Given the description of an element on the screen output the (x, y) to click on. 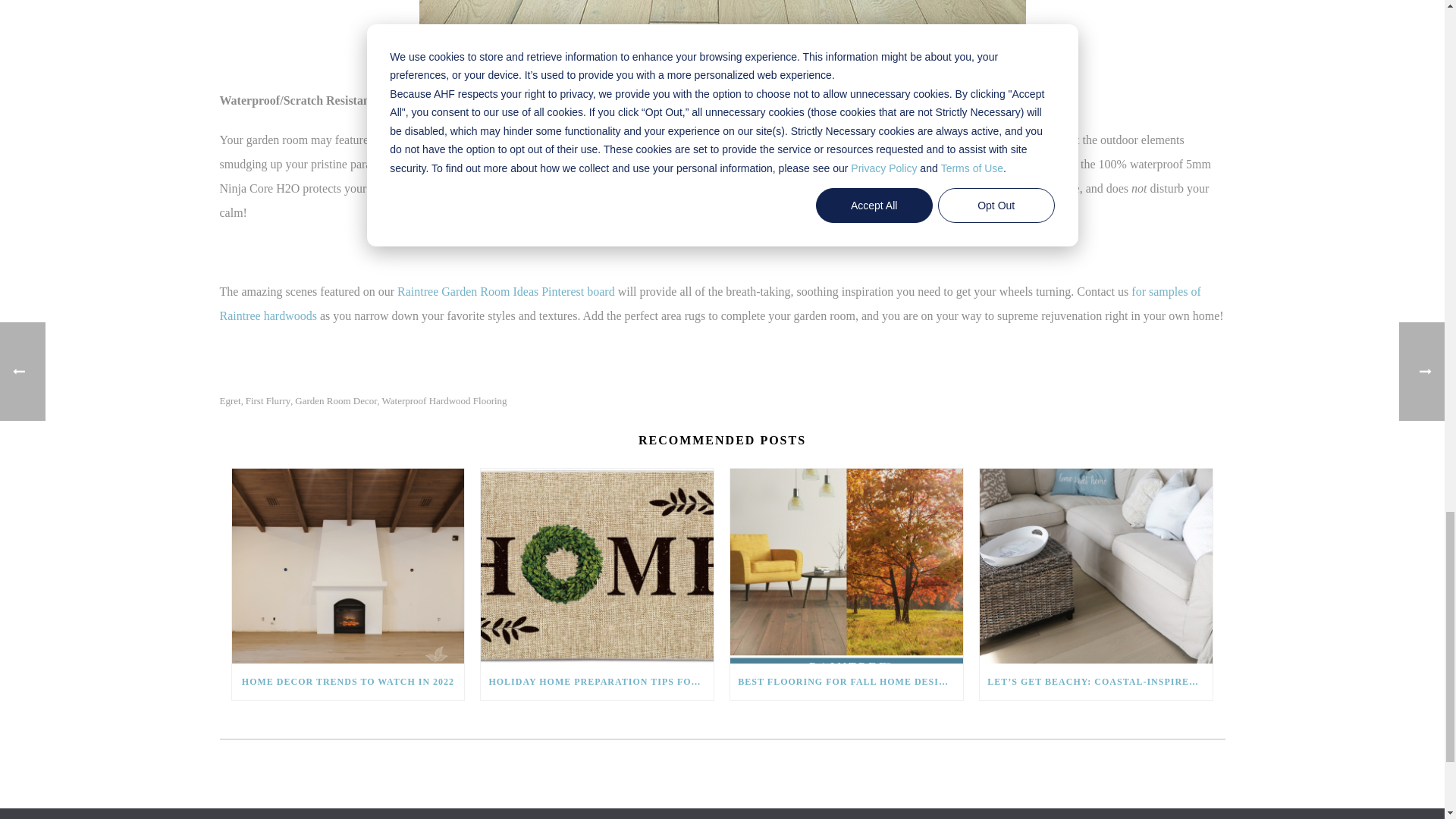
Best Flooring for Fall Home Design Trends (846, 566)
HOME DECOR TRENDS TO WATCH IN 2022 (347, 566)
